Given the description of an element on the screen output the (x, y) to click on. 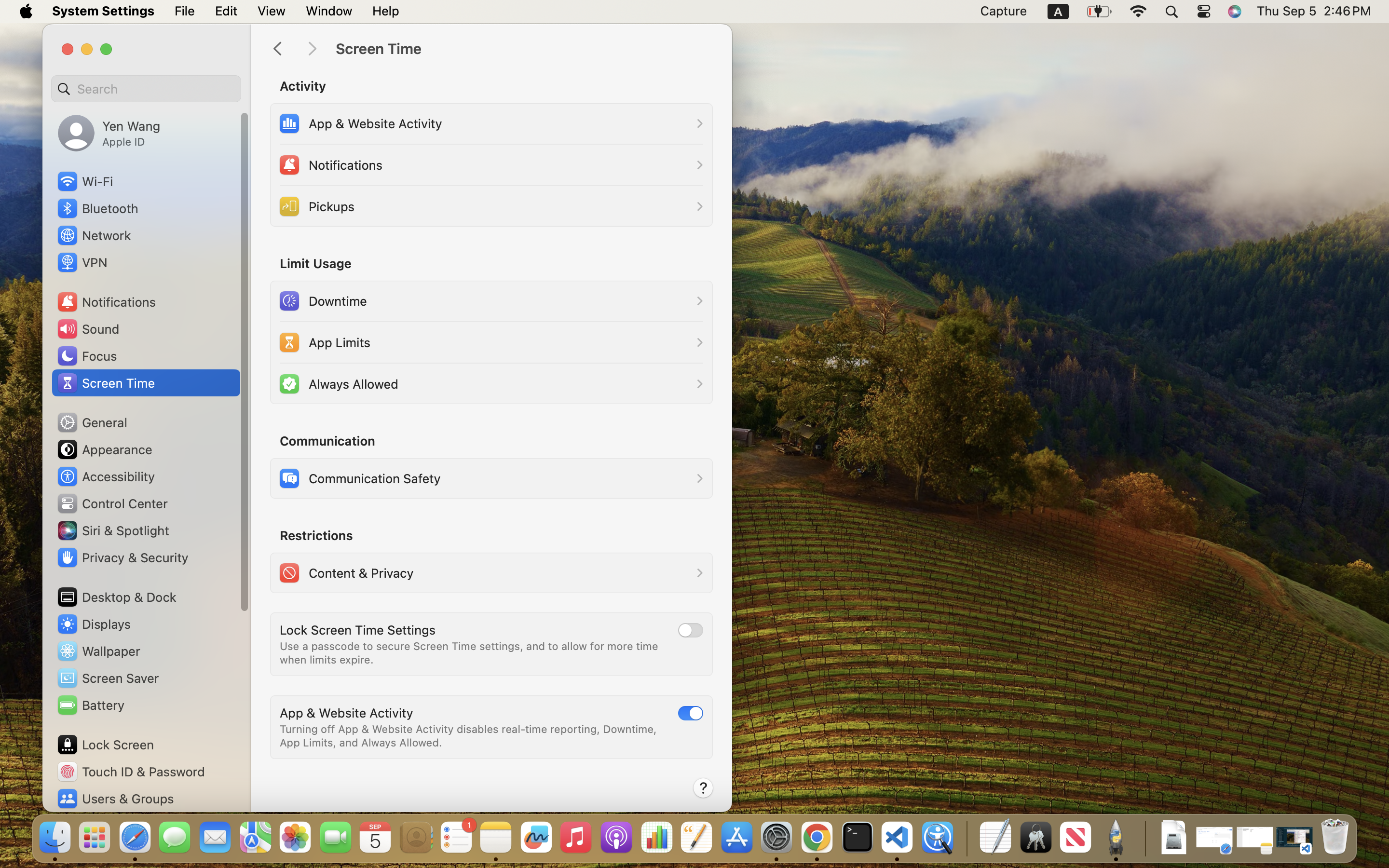
Sound Element type: AXStaticText (87, 328)
Displays Element type: AXStaticText (93, 623)
Users & Groups Element type: AXStaticText (114, 798)
Accessibility Element type: AXStaticText (105, 476)
Notifications Element type: AXStaticText (105, 301)
